Given the description of an element on the screen output the (x, y) to click on. 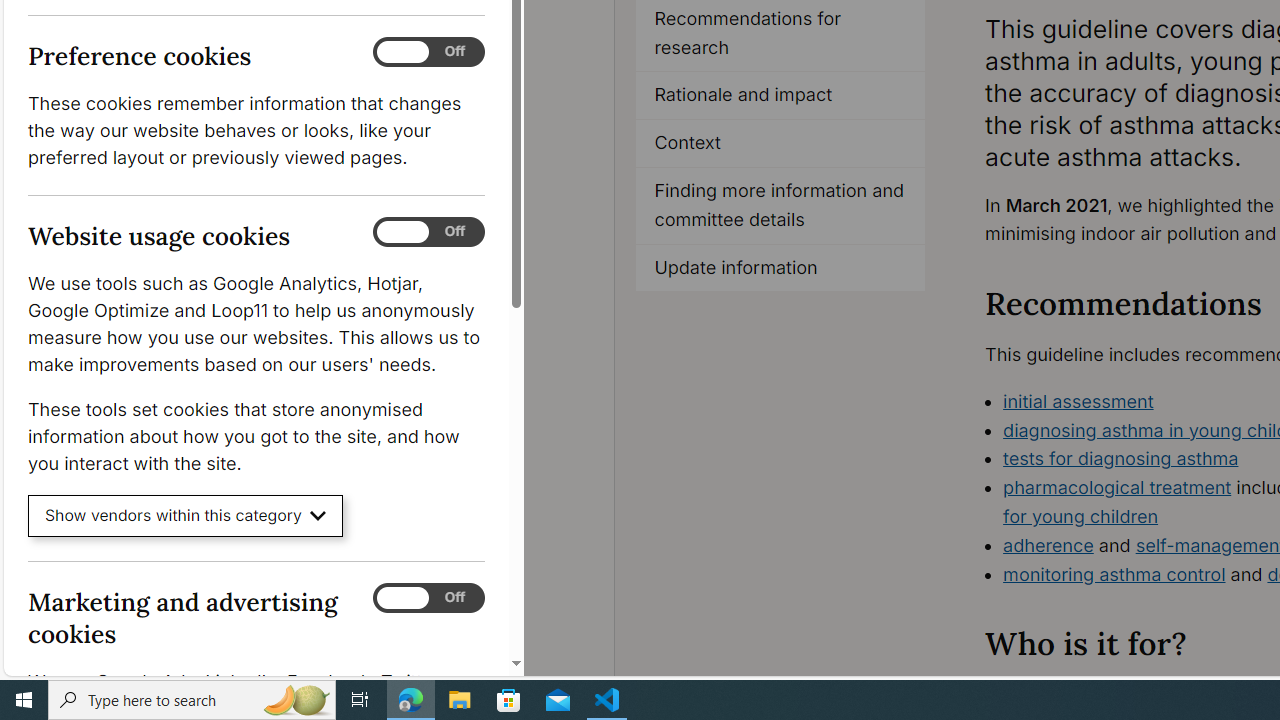
tests for diagnosing asthma (1121, 458)
pharmacological treatment (1117, 487)
Marketing and advertising cookies (429, 597)
for young children (1080, 515)
Rationale and impact (780, 96)
Update information (781, 268)
Preference cookies (429, 52)
Rationale and impact (781, 96)
Context (780, 143)
initial assessment (1078, 400)
Finding more information and committee details (780, 205)
adherence (1048, 544)
monitoring asthma control (1114, 573)
Website usage cookies (429, 232)
Update information (780, 268)
